Given the description of an element on the screen output the (x, y) to click on. 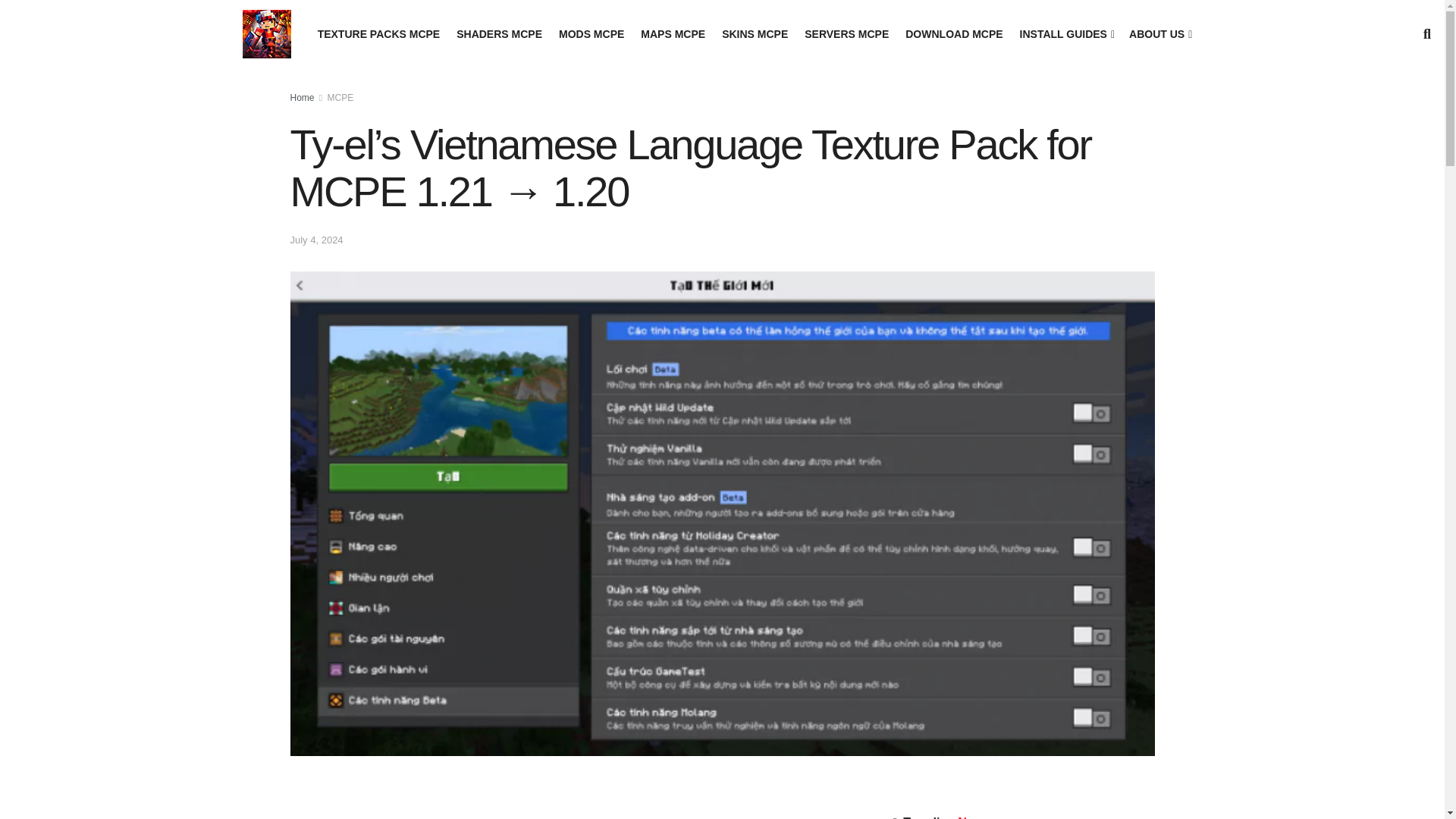
TEXTURE PACKS MCPE (379, 34)
MODS MCPE (591, 34)
SERVERS MCPE (846, 34)
INSTALL GUIDES (1066, 34)
DOWNLOAD MCPE (954, 34)
SKINS MCPE (754, 34)
ABOUT US (1159, 34)
MAPS MCPE (672, 34)
SHADERS MCPE (499, 34)
